Given the description of an element on the screen output the (x, y) to click on. 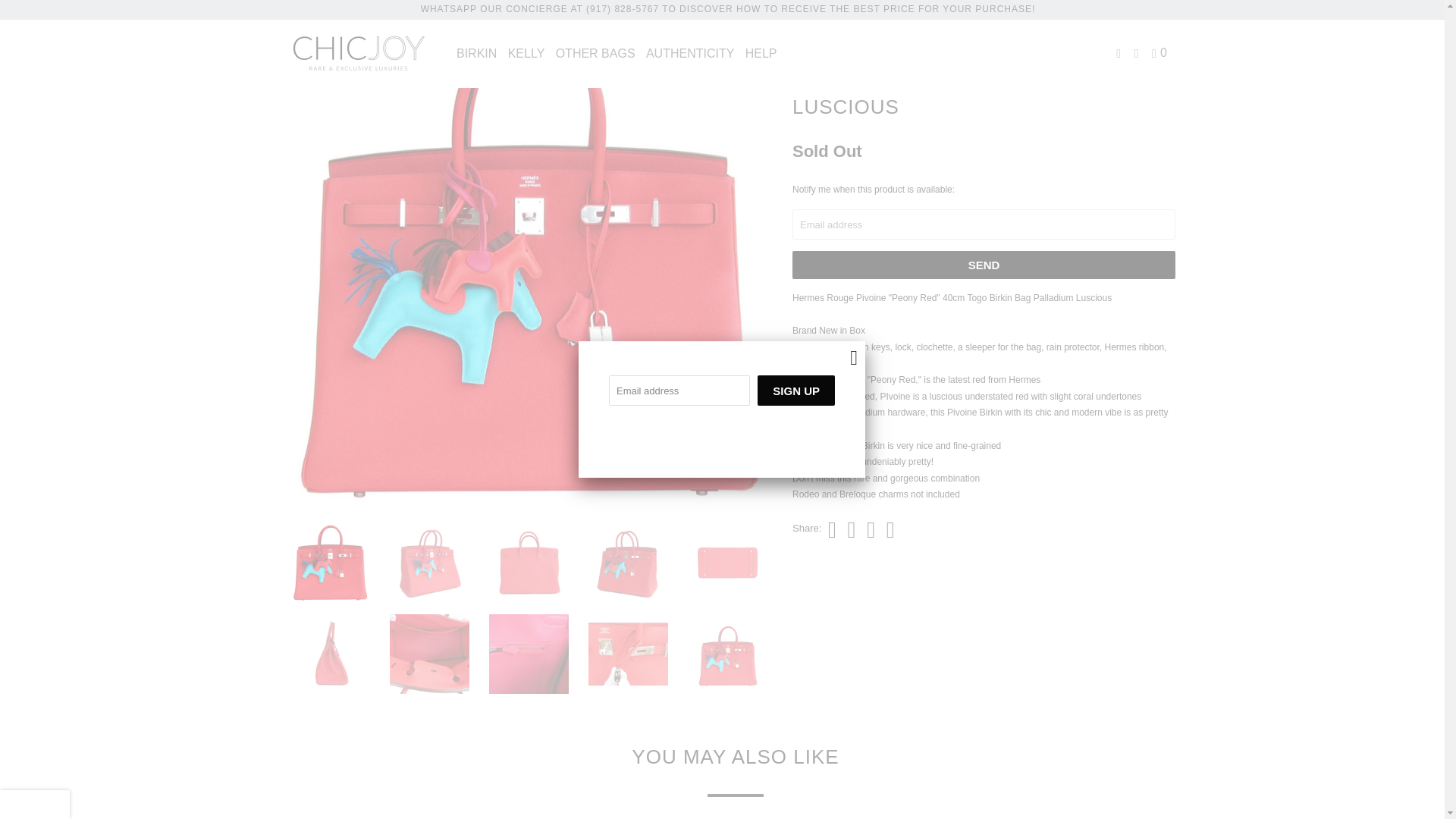
HELP (761, 52)
Sign Up (795, 390)
KELLY (526, 52)
Send (983, 264)
Chicjoy (358, 52)
0 (1160, 52)
Send (983, 264)
BIRKIN (475, 52)
OTHER BAGS (596, 52)
